Given the description of an element on the screen output the (x, y) to click on. 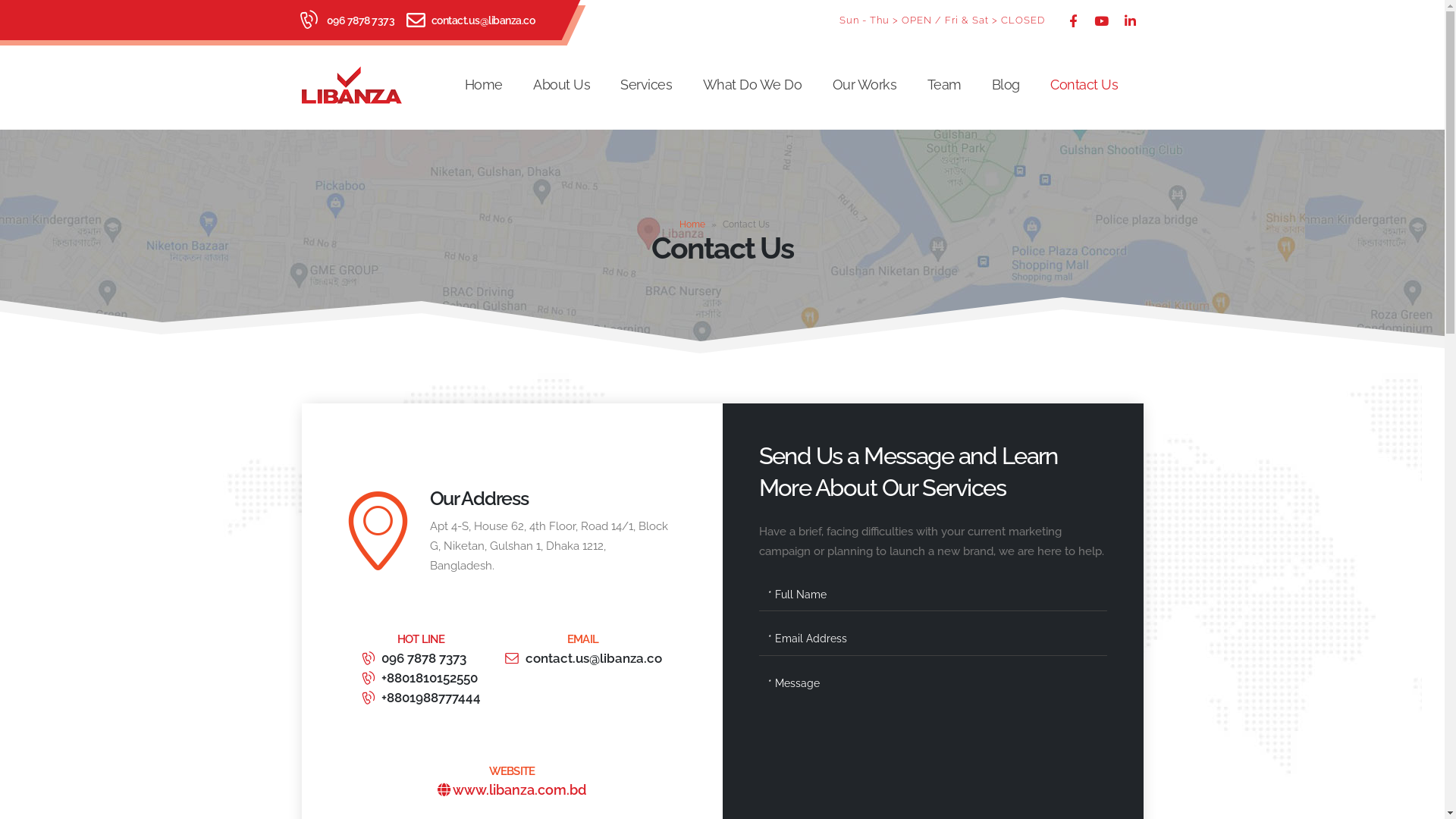
About Us Element type: text (561, 84)
LinkedIn Element type: hover (1129, 19)
+8801988777444 Element type: text (420, 697)
www.libanza.com.bd Element type: text (511, 797)
Youtube Element type: hover (1100, 19)
Team Element type: text (943, 84)
096 7878 7373 Element type: text (360, 20)
Services Element type: text (645, 84)
Facebook Element type: hover (1072, 19)
Home Element type: text (692, 224)
contact.us@libanza.co Element type: text (582, 658)
contact.us@libanza.co Element type: text (482, 20)
Home Element type: text (483, 84)
Contact Us Element type: text (1083, 84)
096 7878 7373 Element type: text (420, 658)
+8801810152550 Element type: text (420, 677)
What Do We Do Element type: text (752, 84)
Blog Element type: text (1005, 84)
Our Works Element type: text (863, 84)
